Given the description of an element on the screen output the (x, y) to click on. 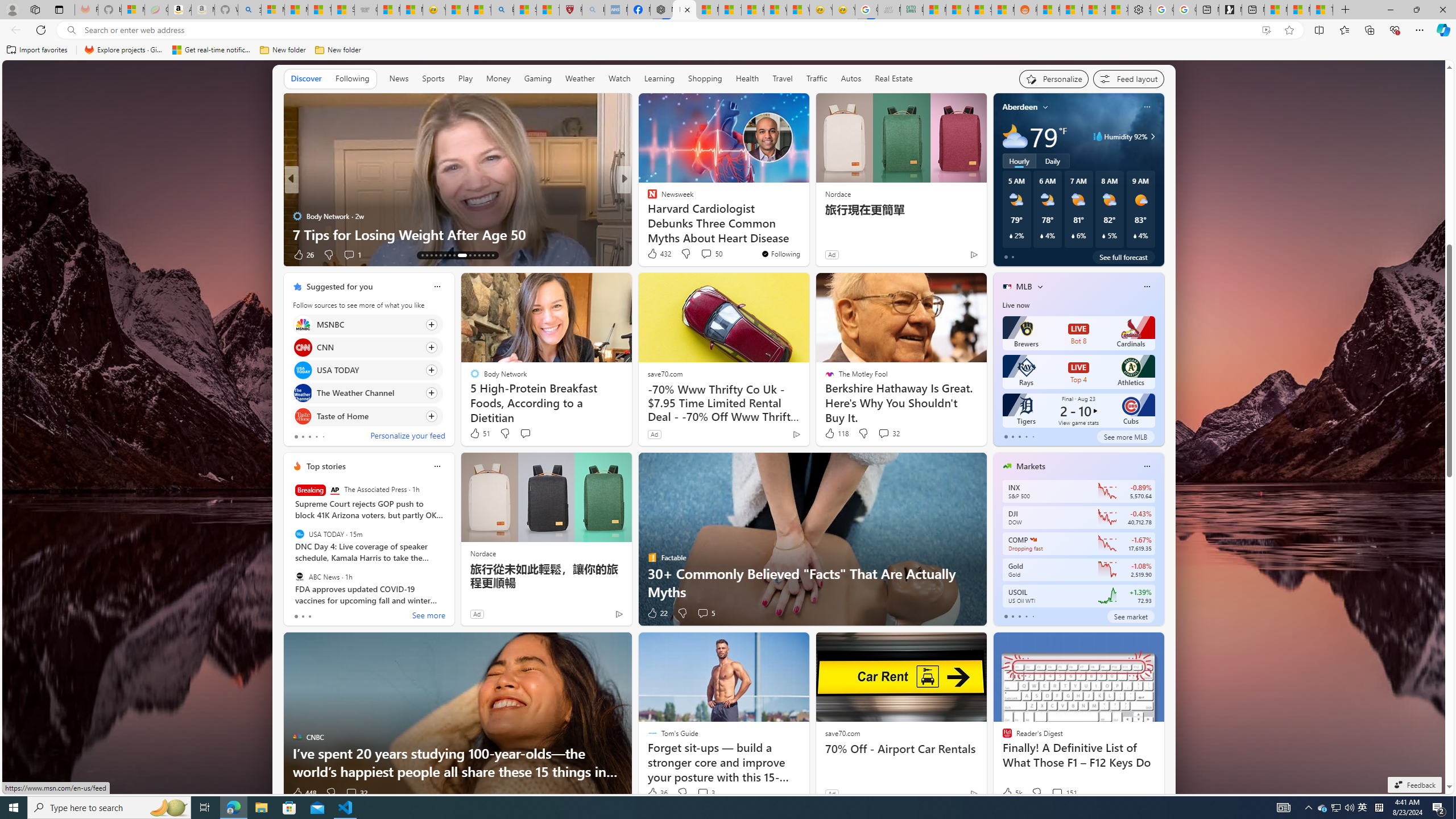
Click to follow source Taste of Home (367, 415)
Gaming (537, 79)
View comments 151 Comment (1063, 792)
Mostly cloudy (1014, 136)
View comments 5 Comment (705, 612)
Feedback (1414, 784)
Daily (1052, 160)
AutomationID: tab-74 (461, 255)
Traffic (816, 79)
tab-2 (1019, 616)
Moneywise (647, 197)
